Given the description of an element on the screen output the (x, y) to click on. 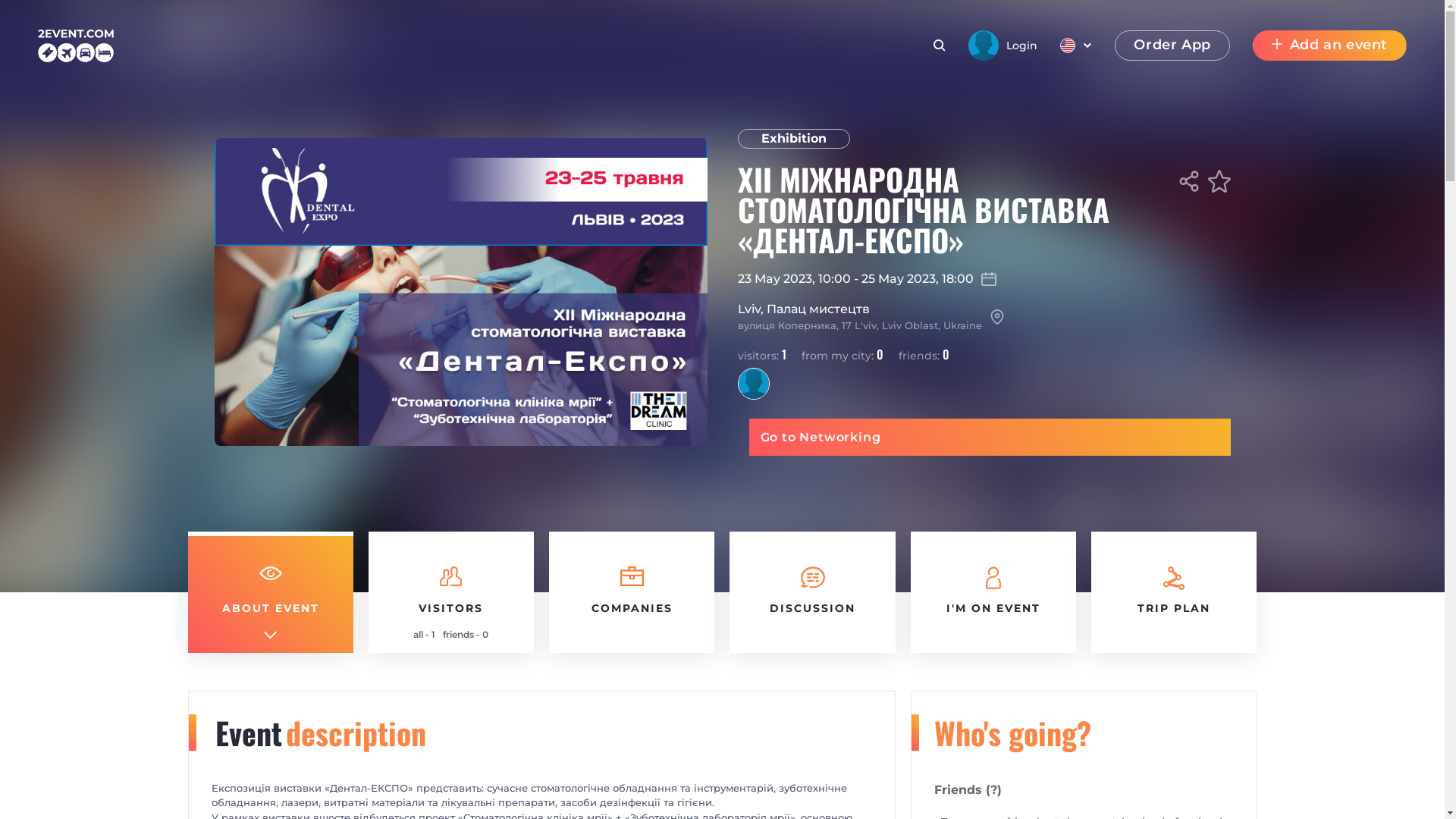
I'M ON EVENT Element type: text (993, 591)
TRIP PLAN Element type: text (1173, 591)
from my city: 0 Element type: text (841, 353)
COMPANIES Element type: text (631, 591)
VISITORS
all - 1friends - 0 Element type: text (450, 591)
Login Element type: text (1002, 45)
visitors: 1 Element type: text (761, 353)
friends: 0 Element type: text (922, 353)
Exhibition Element type: text (793, 138)
Who's going? Element type: text (1012, 732)
Add an event Element type: text (1329, 45)
Order App Element type: text (1171, 45)
Go to Networking Element type: text (989, 436)
DISCUSSION Element type: text (811, 591)
23 May 2023, 10:00 - 25 May 2023, 18:00 Element type: text (983, 278)
